Given the description of an element on the screen output the (x, y) to click on. 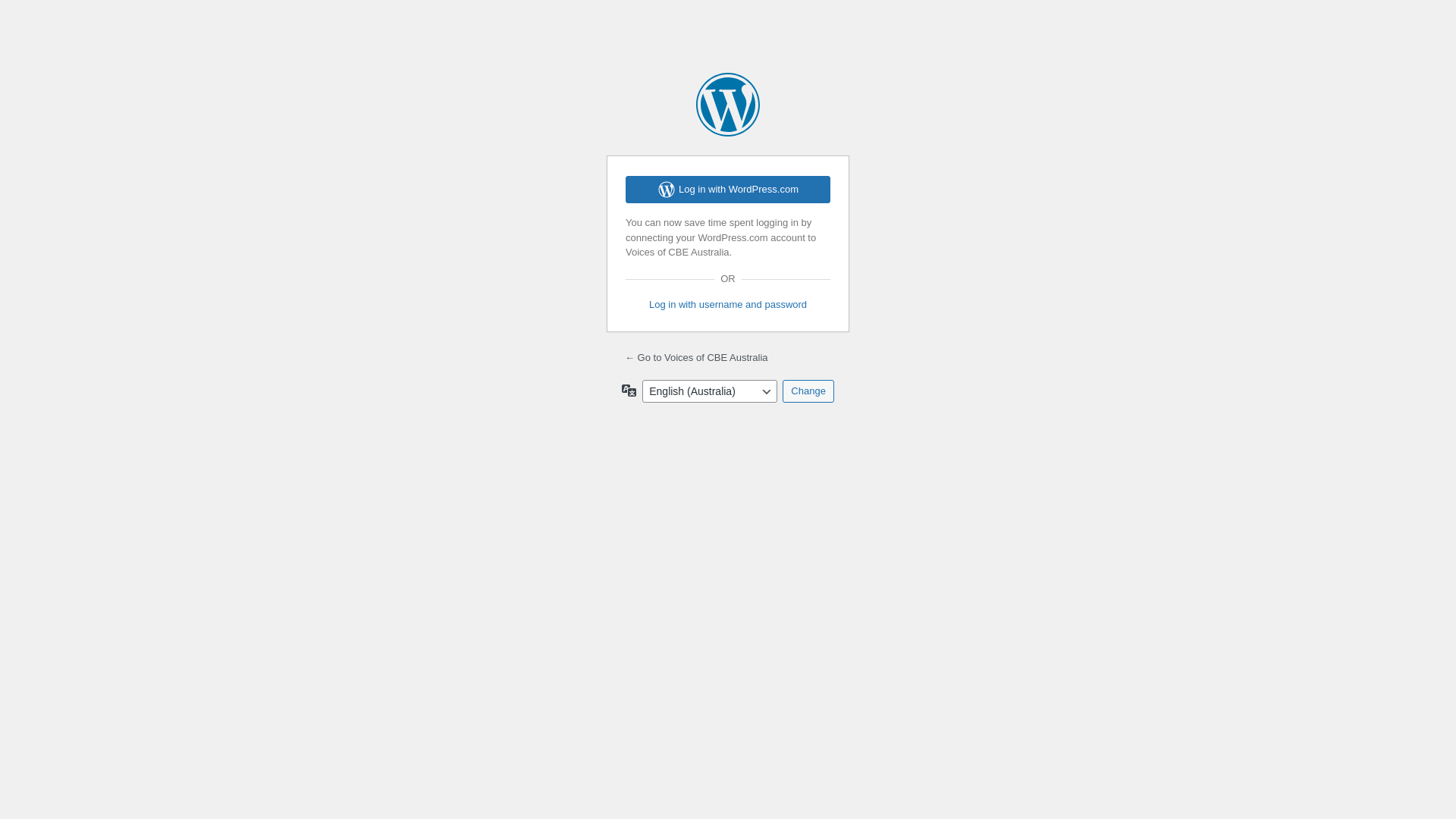
Change Element type: text (808, 390)
Log in with WordPress.com Element type: text (727, 189)
Log in with username and password Element type: text (727, 304)
Powered by WordPress Element type: text (727, 104)
